Given the description of an element on the screen output the (x, y) to click on. 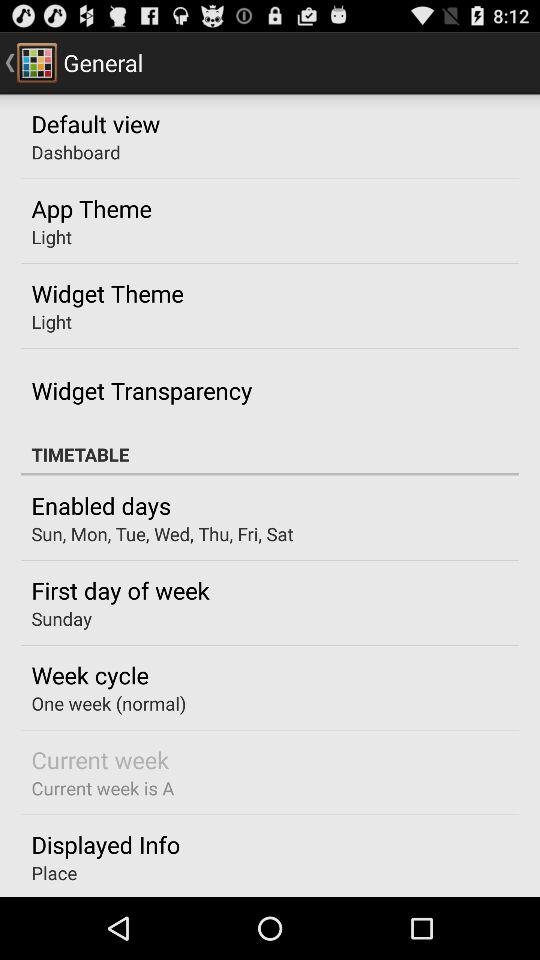
flip to dashboard icon (75, 151)
